Given the description of an element on the screen output the (x, y) to click on. 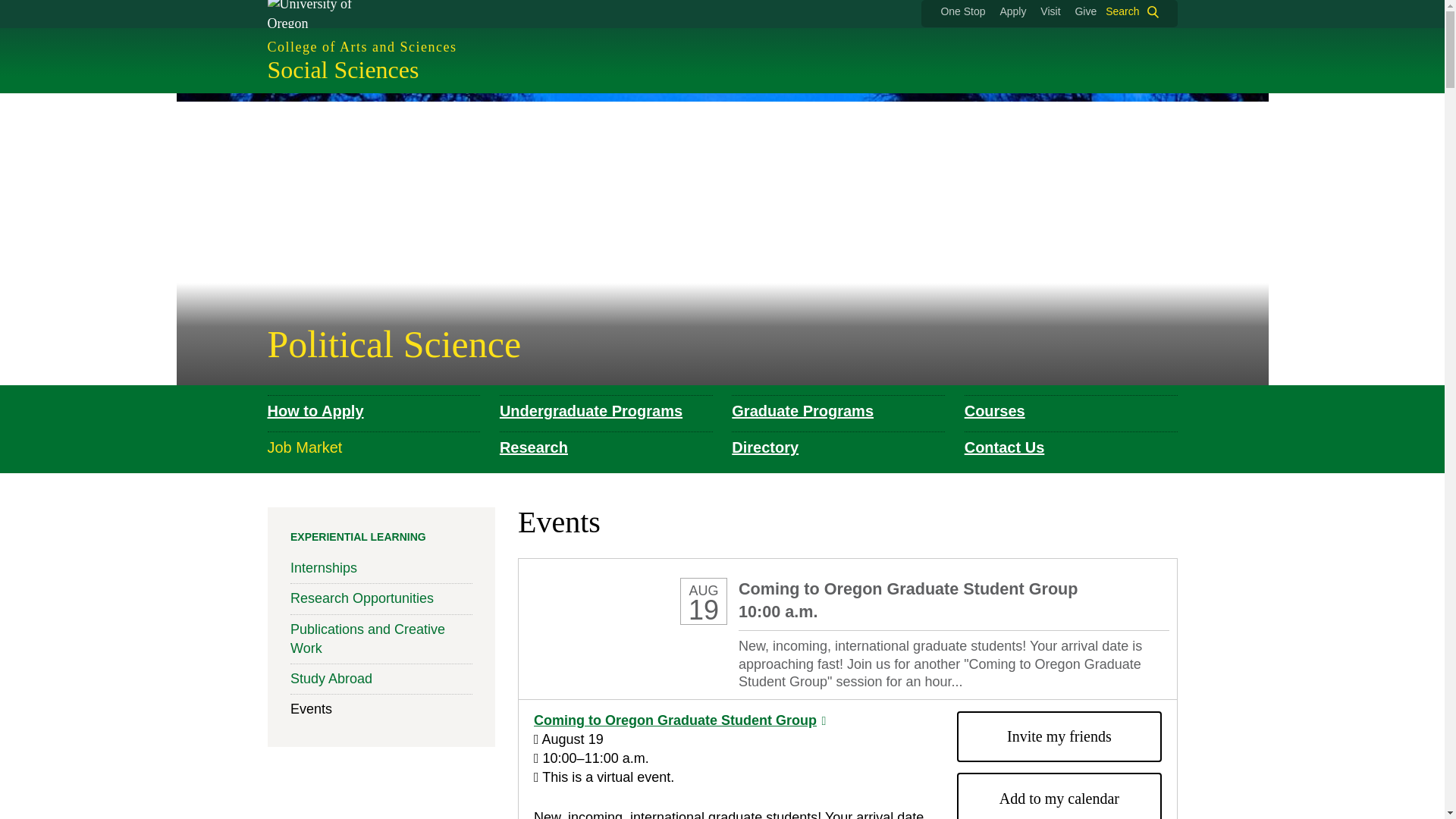
Social SciencesHome (342, 69)
Coming to Oregon Graduate Student Group (679, 719)
Research (533, 446)
Visit (1050, 10)
Courses (994, 410)
Social Sciences (342, 69)
Directory (764, 446)
Invite my friends (1058, 735)
Undergraduate Programs (590, 410)
College of Arts and Sciences (721, 46)
Give (1085, 10)
How to Apply (314, 410)
Graduate Programs (802, 410)
Event: Coming to Oregon Graduate Student Group (612, 627)
Contact Us (1004, 446)
